Given the description of an element on the screen output the (x, y) to click on. 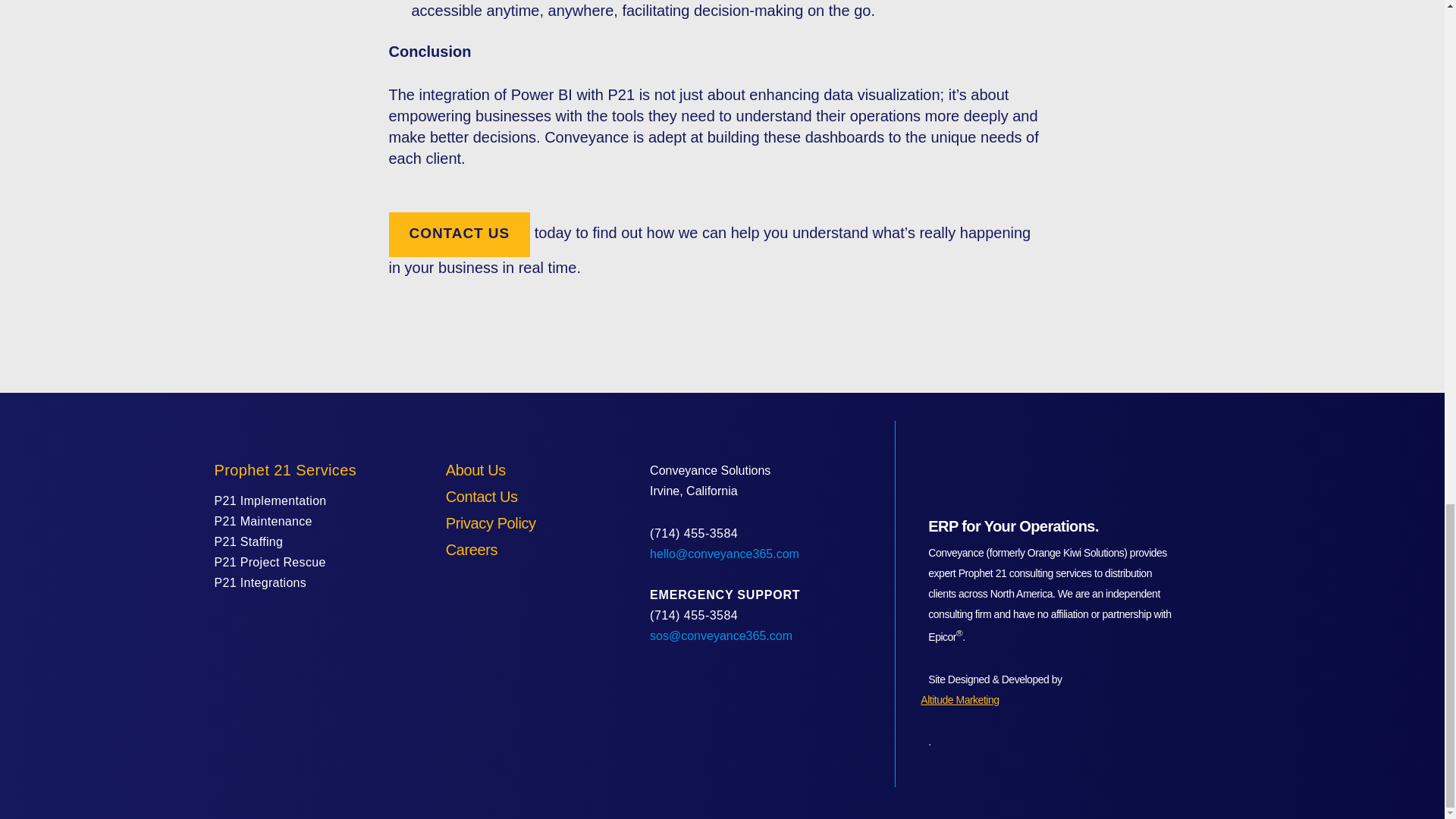
About Us (475, 469)
P21 Project Rescue (269, 562)
Contact Us (481, 496)
Altitude Marketing (1046, 700)
CONTACT US (458, 234)
Prophet 21 Services (285, 469)
Careers (471, 549)
P21 Integrations (259, 582)
P21 Staffing (248, 541)
Privacy Policy (490, 523)
P21 Implementation (270, 500)
P21 Maintenance (262, 521)
